Given the description of an element on the screen output the (x, y) to click on. 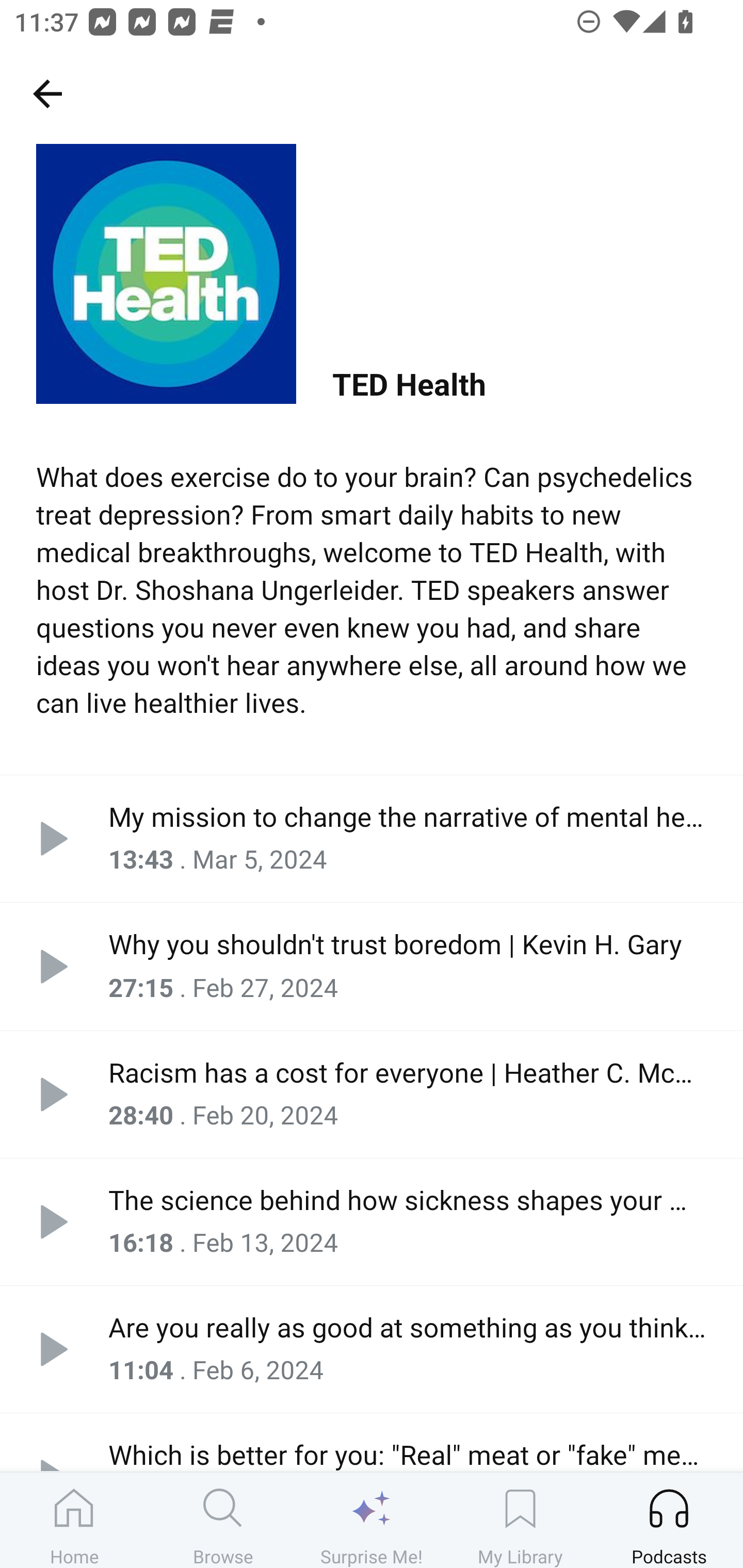
TED Podcasts, back (47, 92)
Home (74, 1520)
Browse (222, 1520)
Surprise Me! (371, 1520)
My Library (519, 1520)
Podcasts (668, 1520)
